Given the description of an element on the screen output the (x, y) to click on. 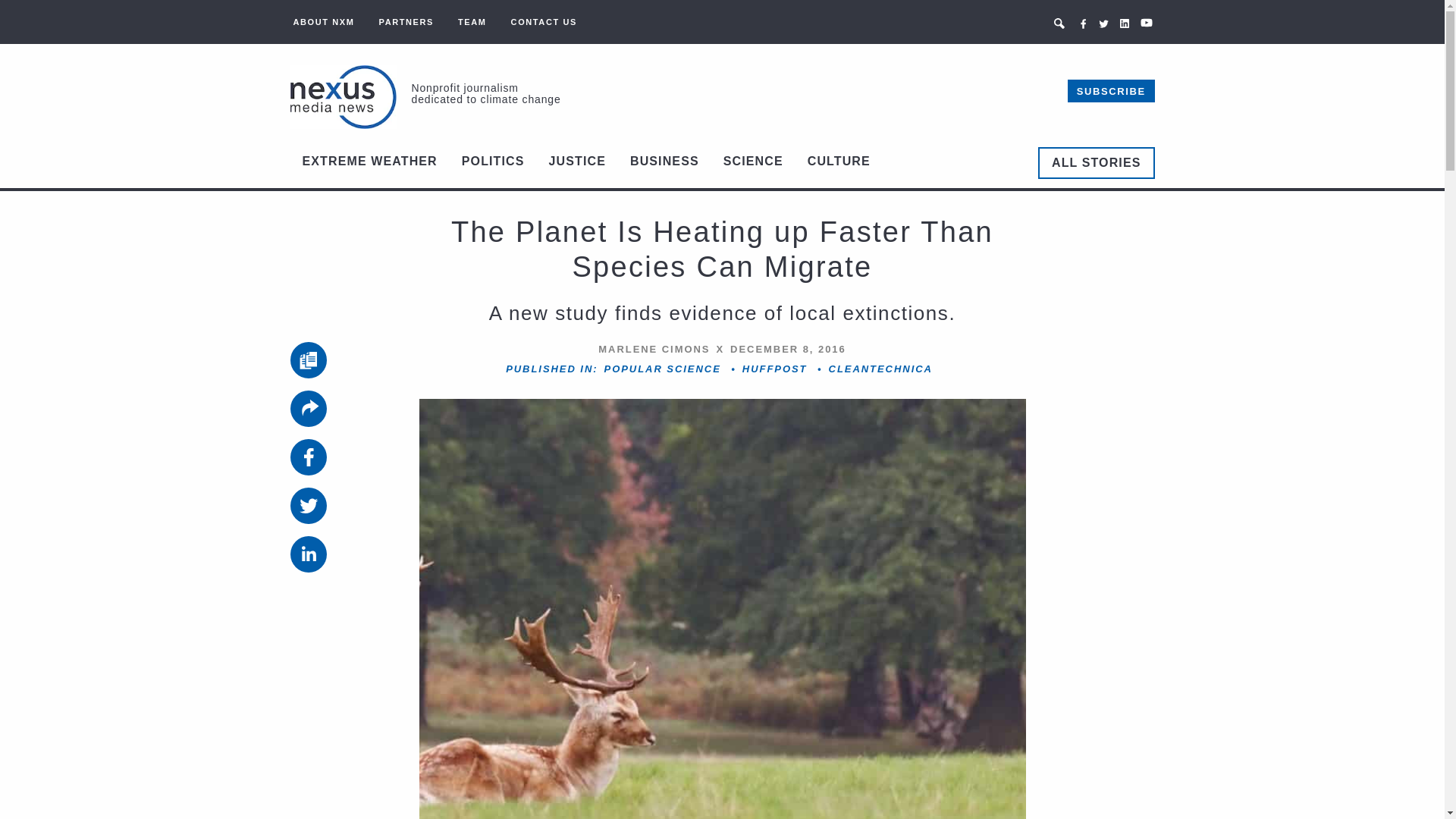
Share on Twitter (307, 505)
Share on Facebook (307, 456)
POLITICS (493, 161)
Email this article (307, 408)
SCIENCE (752, 161)
CULTURE (838, 161)
HUFFPOST (775, 368)
PARTNERS (406, 21)
SUBSCRIBE (1110, 90)
TEAM (472, 21)
